Given the description of an element on the screen output the (x, y) to click on. 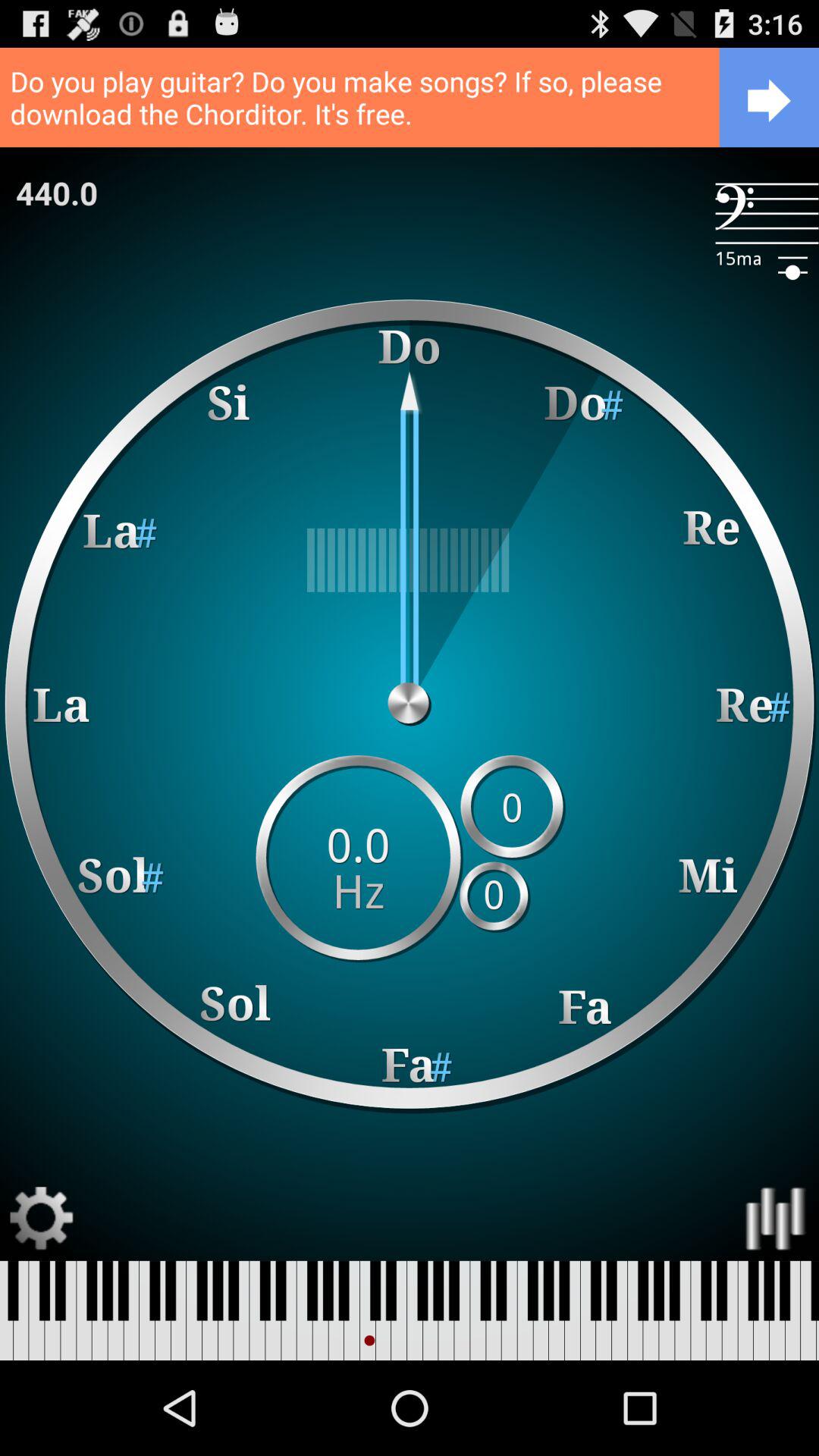
adjust settings (42, 1218)
